Given the description of an element on the screen output the (x, y) to click on. 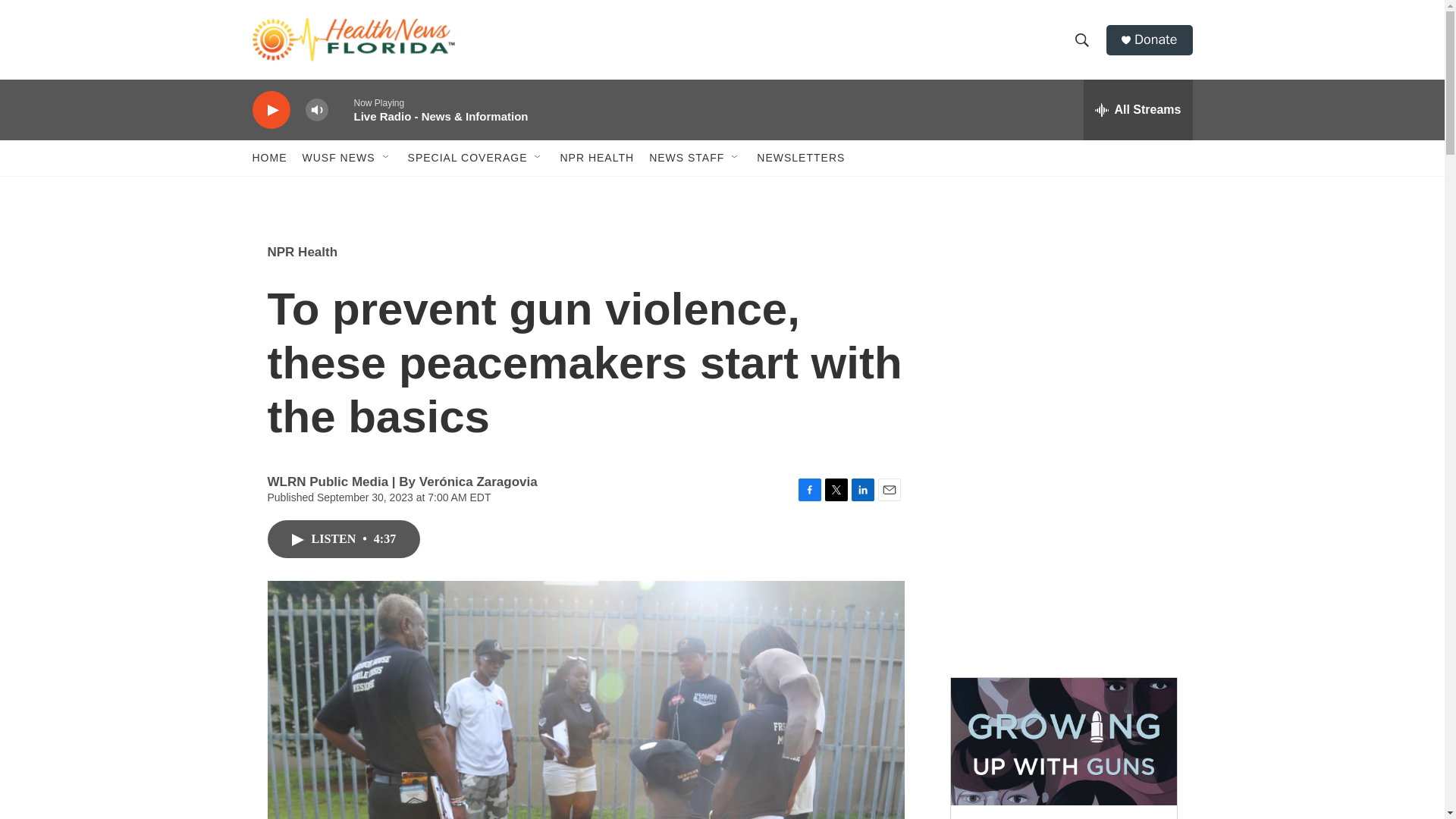
3rd party ad content (1062, 331)
3rd party ad content (1062, 552)
